Given the description of an element on the screen output the (x, y) to click on. 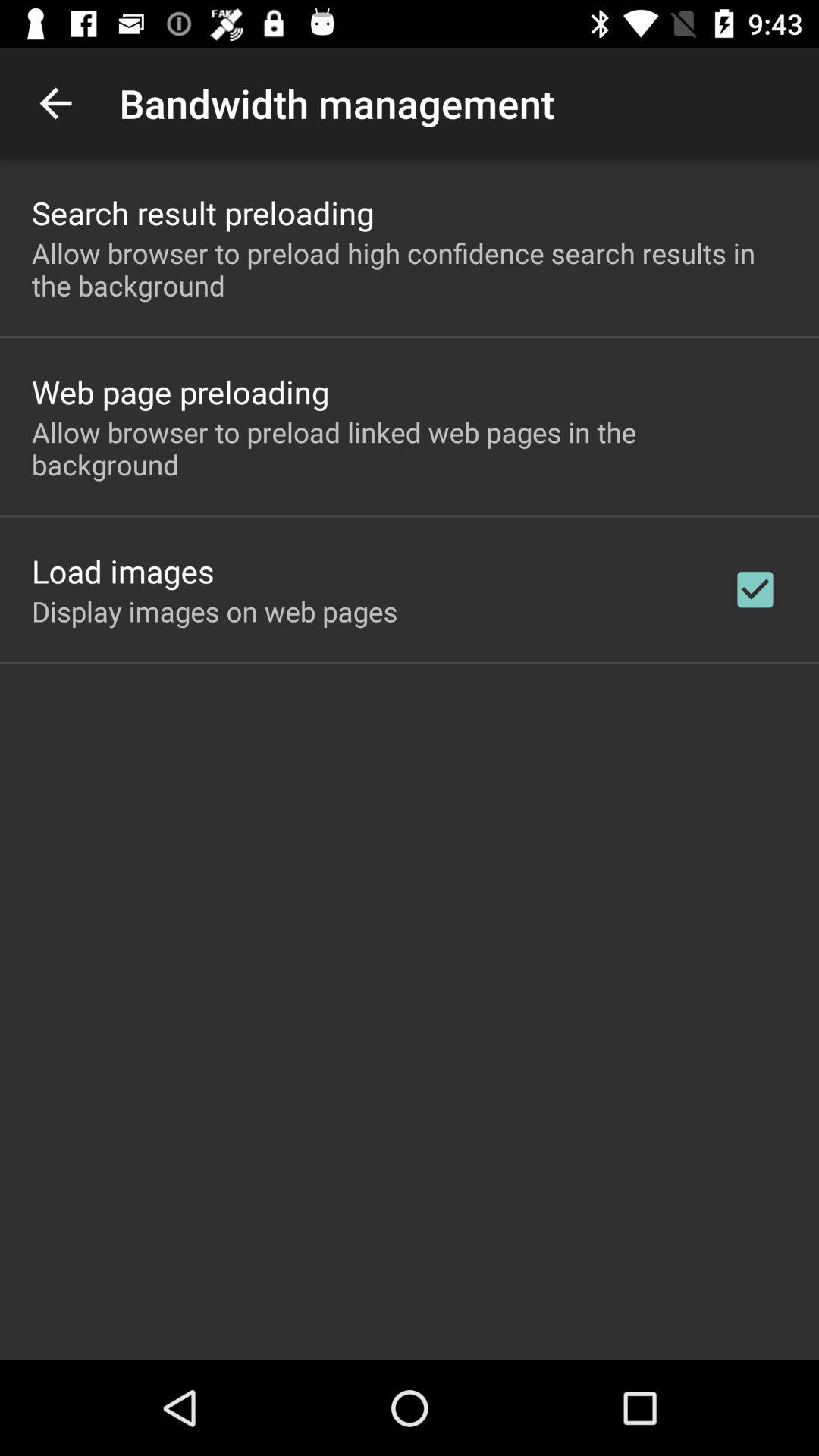
click icon to the left of bandwidth management app (55, 103)
